Given the description of an element on the screen output the (x, y) to click on. 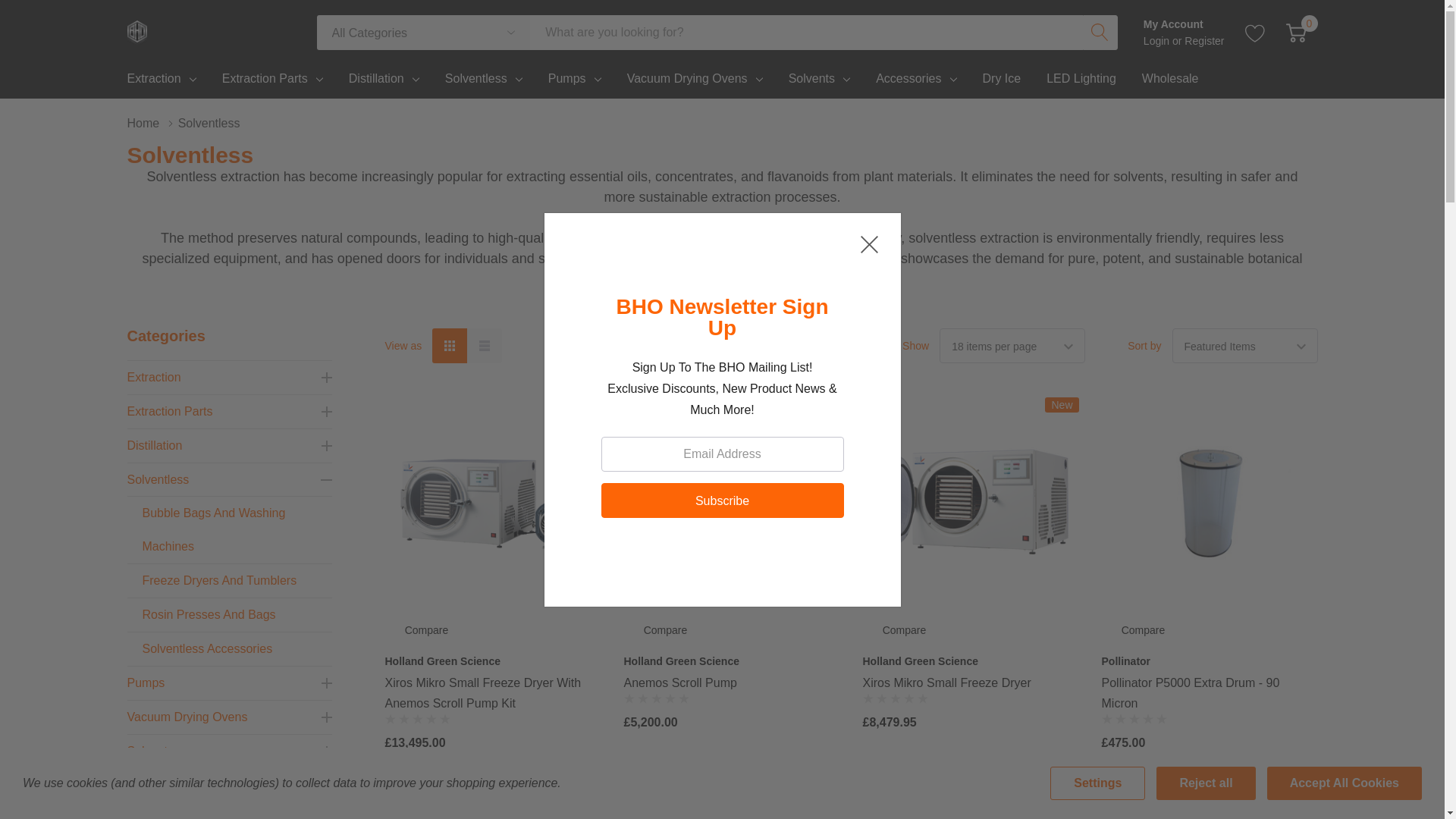
Extraction Parts (264, 78)
Xiros Mikro Small Freeze Dryer With Anemos Scroll Pump Kit (493, 504)
Register (1204, 40)
Anemos Scroll Pump (731, 504)
Pollinator P5000 Extra Drum - 90 Micron (1208, 505)
Xiros Mikro	Small Freeze Dryer (970, 505)
Subscribe (721, 499)
Extraction (154, 78)
Login (1157, 40)
0 (1295, 32)
Botanical Health Oils Hardware Ltd (137, 32)
